Given the description of an element on the screen output the (x, y) to click on. 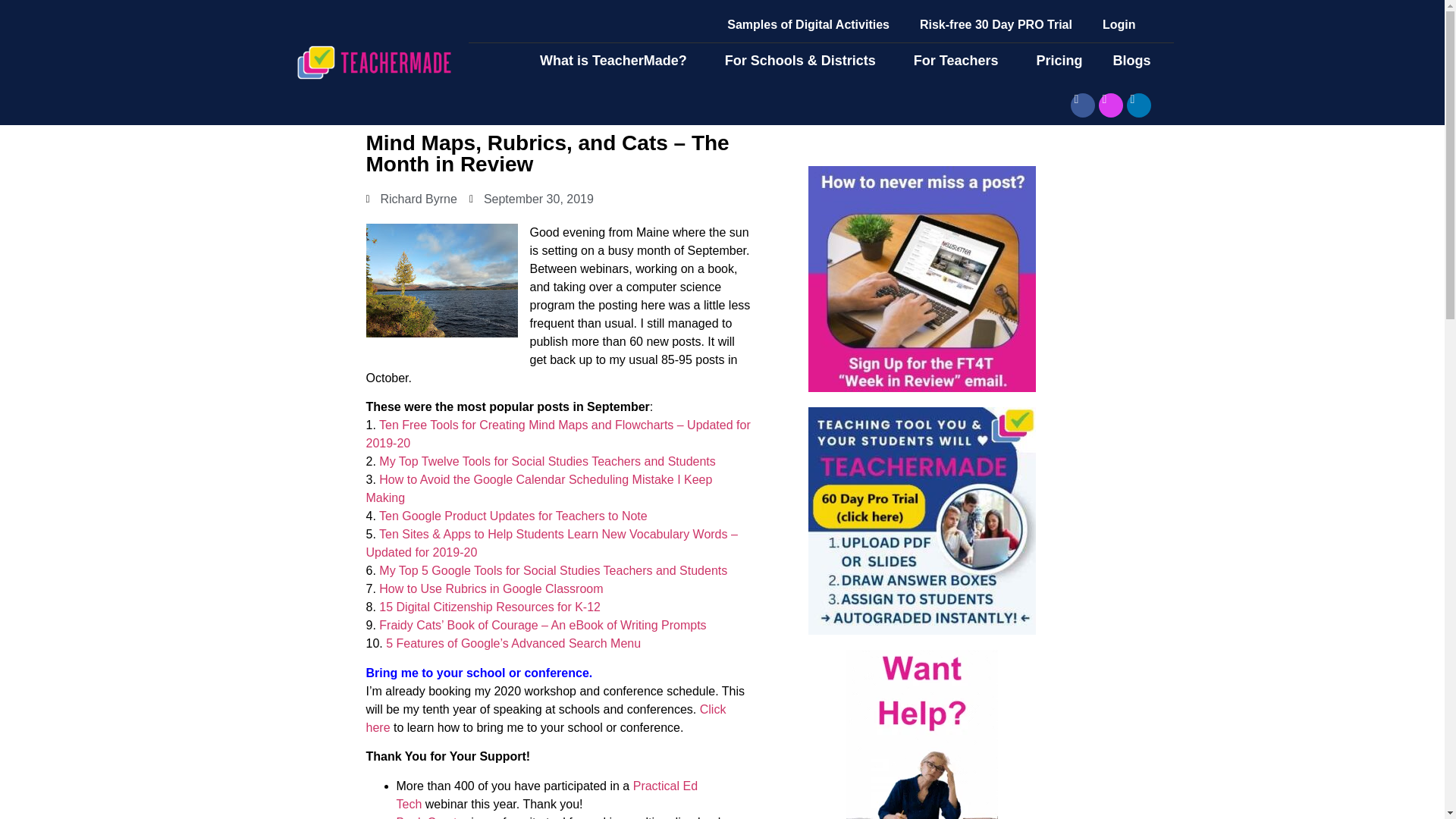
Blogs (1135, 60)
Risk-free 30 Day PRO Trial (995, 24)
For Teachers (960, 60)
What is TeacherMade? (617, 60)
Samples of Digital Activities (807, 24)
Login (1119, 24)
Pricing (1058, 60)
